Given the description of an element on the screen output the (x, y) to click on. 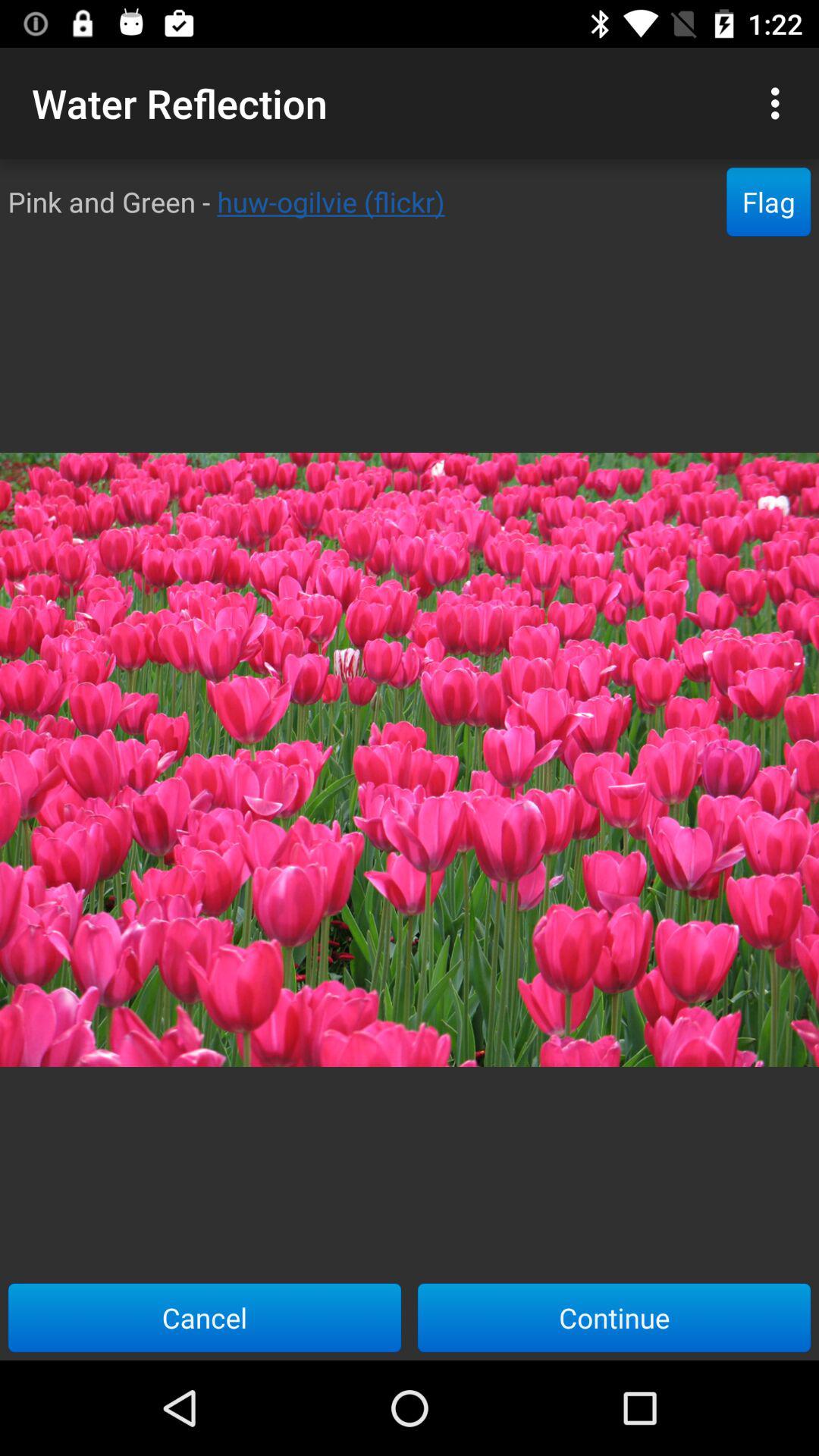
select icon at the bottom left corner (204, 1317)
